Given the description of an element on the screen output the (x, y) to click on. 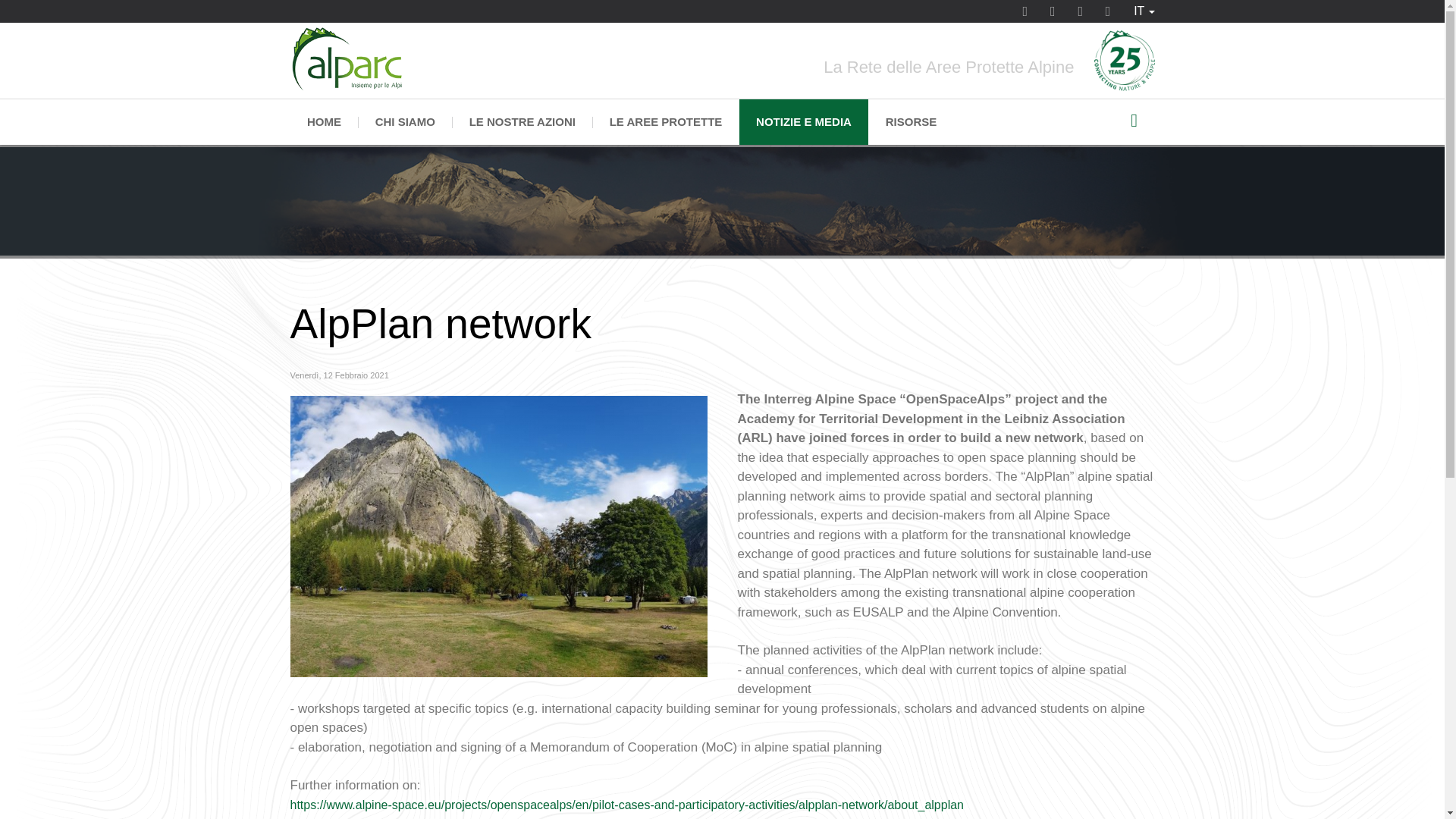
LE AREE PROTETTE (665, 121)
CHI SIAMO (404, 121)
Facebook (1025, 22)
NOTIZIE E MEDIA (804, 121)
IT (1144, 10)
Clicca per vedere l'anteprima dell'immagine (497, 535)
E-mail (1107, 22)
Youtube (1052, 22)
HOME (323, 121)
LE NOSTRE AZIONI (521, 121)
Calameo (1080, 22)
